Given the description of an element on the screen output the (x, y) to click on. 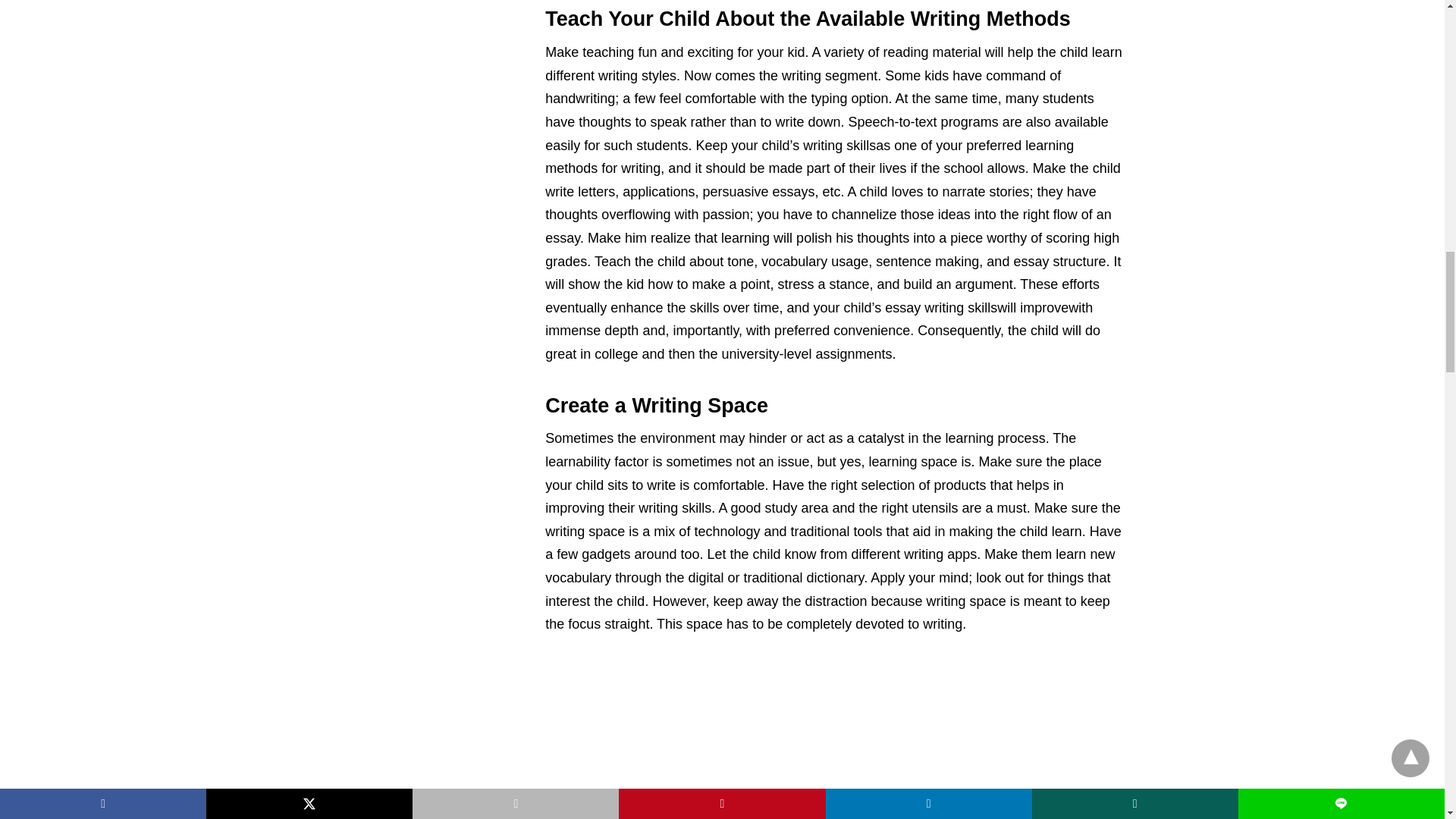
3rd party ad content (834, 739)
